Given the description of an element on the screen output the (x, y) to click on. 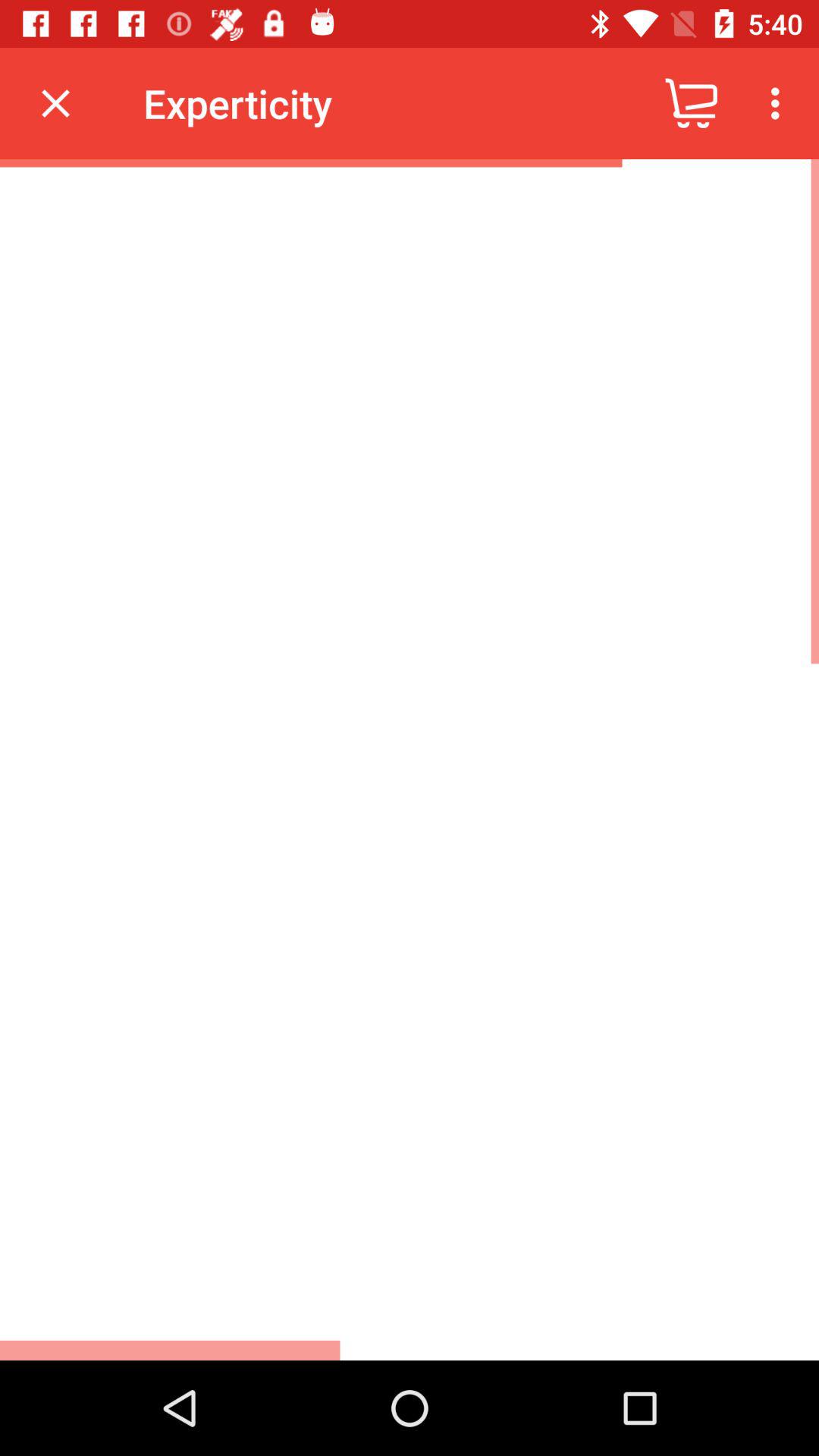
turn on item to the right of the experticity icon (691, 103)
